Given the description of an element on the screen output the (x, y) to click on. 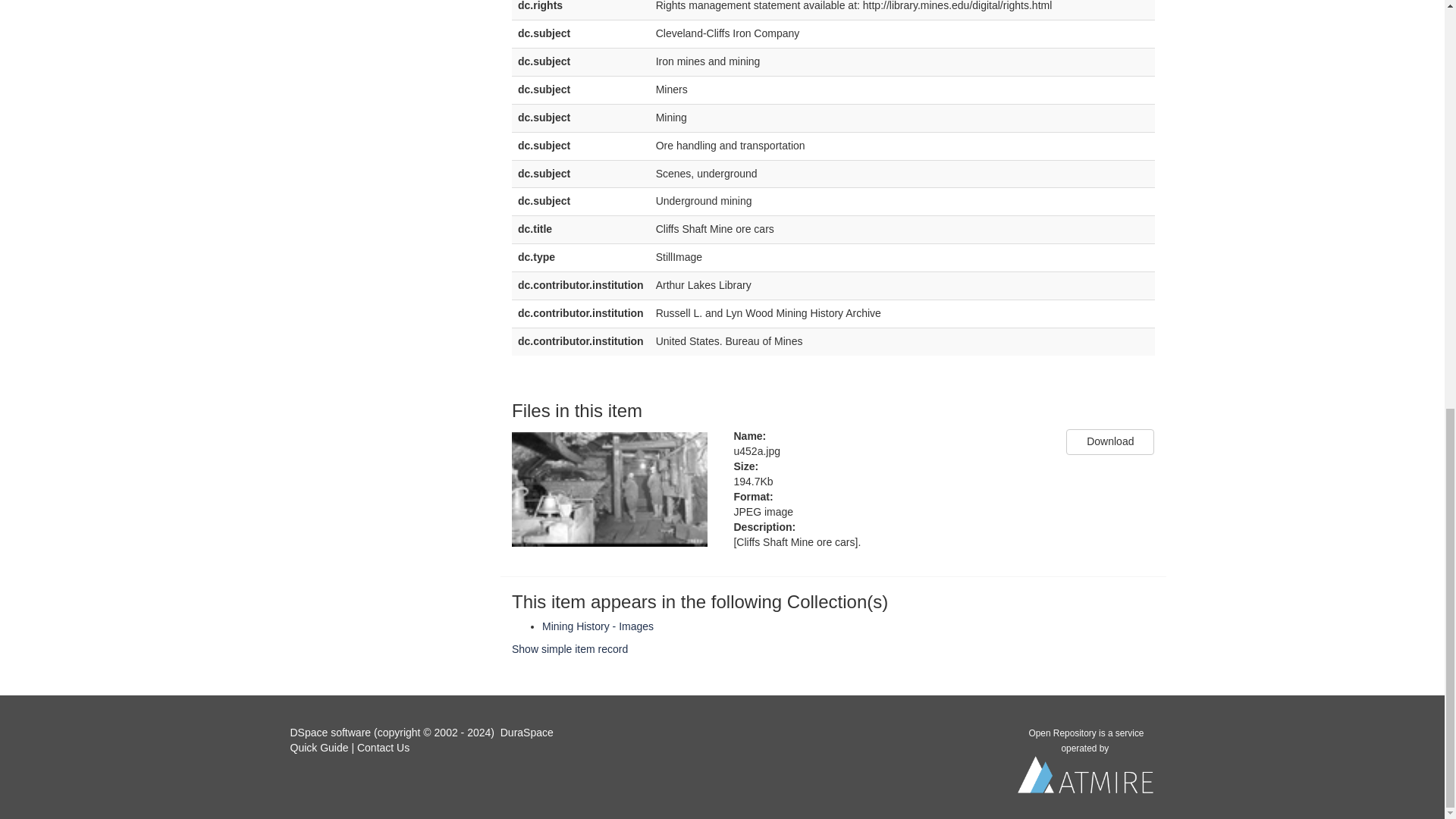
Atmire NV (1085, 778)
u452a.jpg (888, 451)
